Given the description of an element on the screen output the (x, y) to click on. 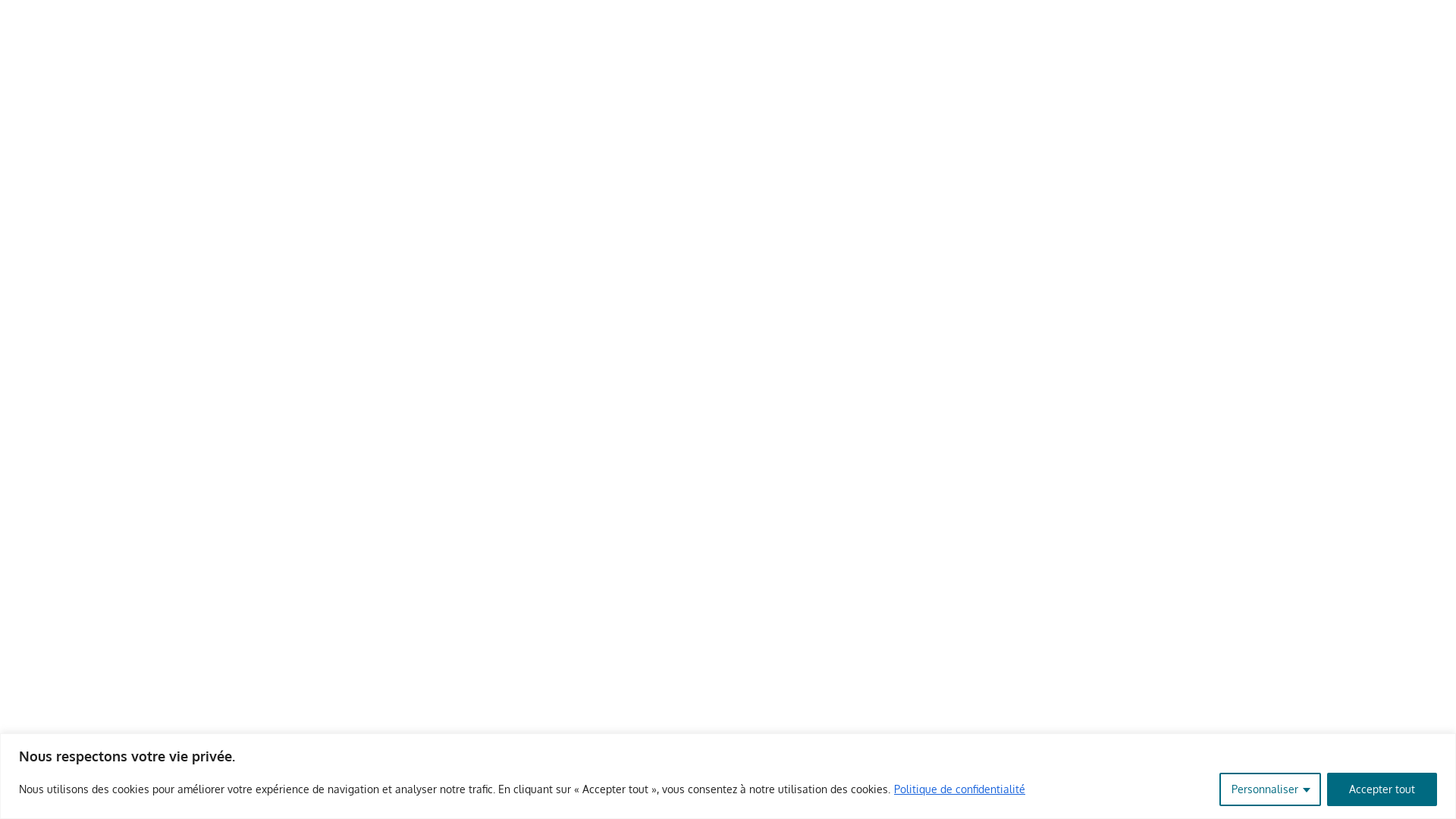
Accepter tout Element type: text (1382, 788)
Personnaliser Element type: text (1270, 788)
